Given the description of an element on the screen output the (x, y) to click on. 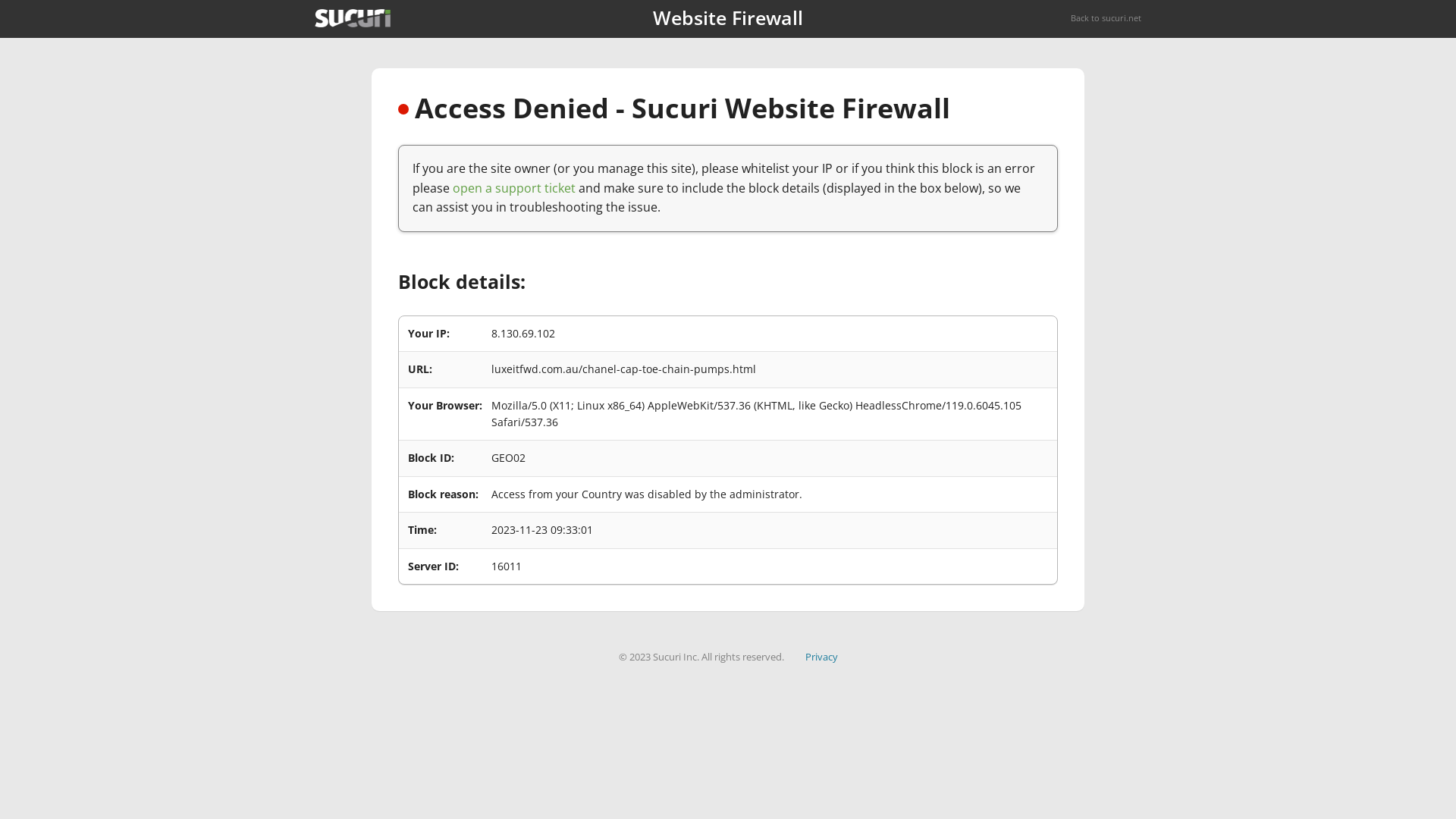
Privacy Element type: text (821, 656)
Back to sucuri.net Element type: text (1105, 18)
open a support ticket Element type: text (513, 187)
